Given the description of an element on the screen output the (x, y) to click on. 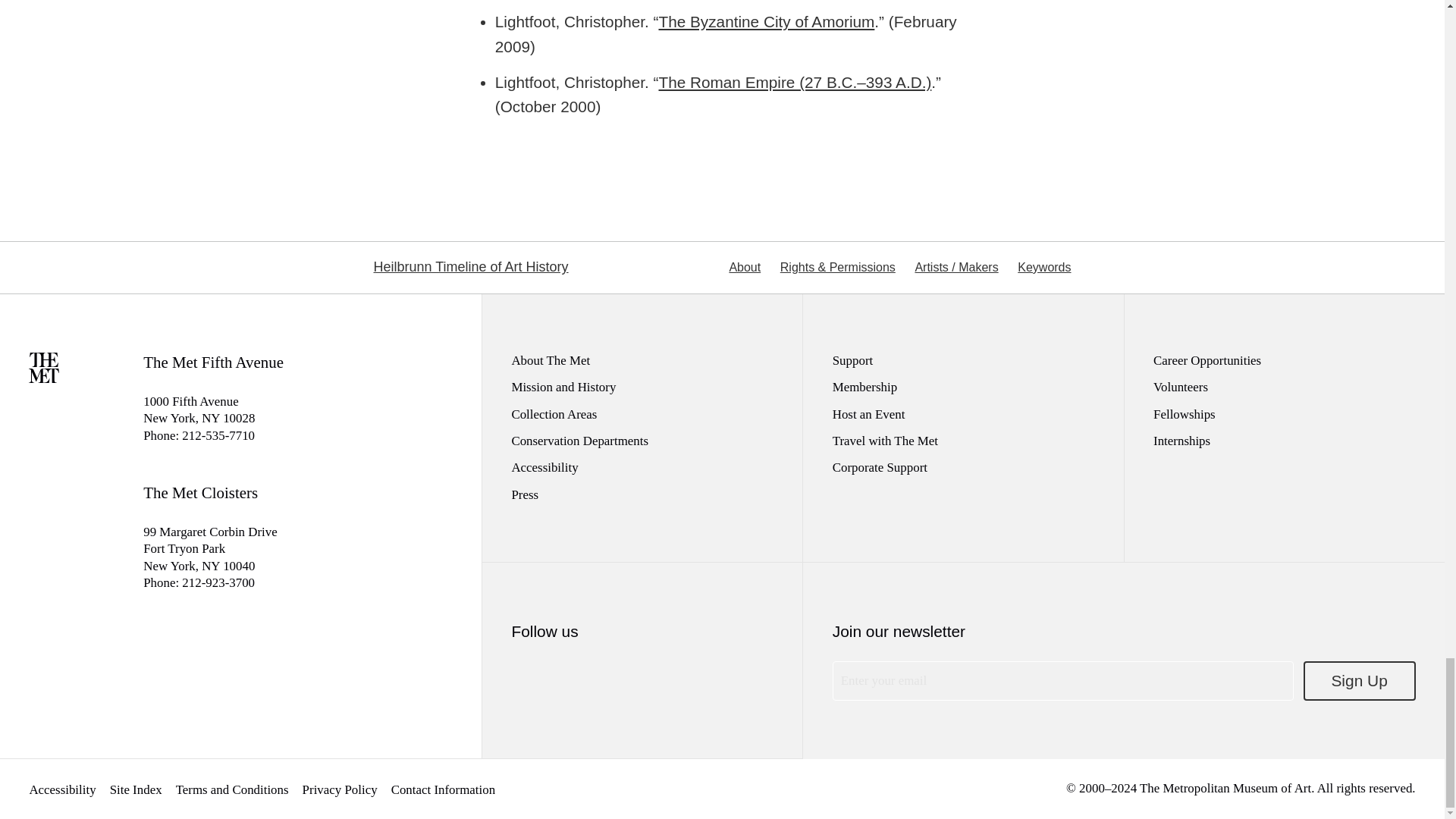
Homepage (44, 377)
